Given the description of an element on the screen output the (x, y) to click on. 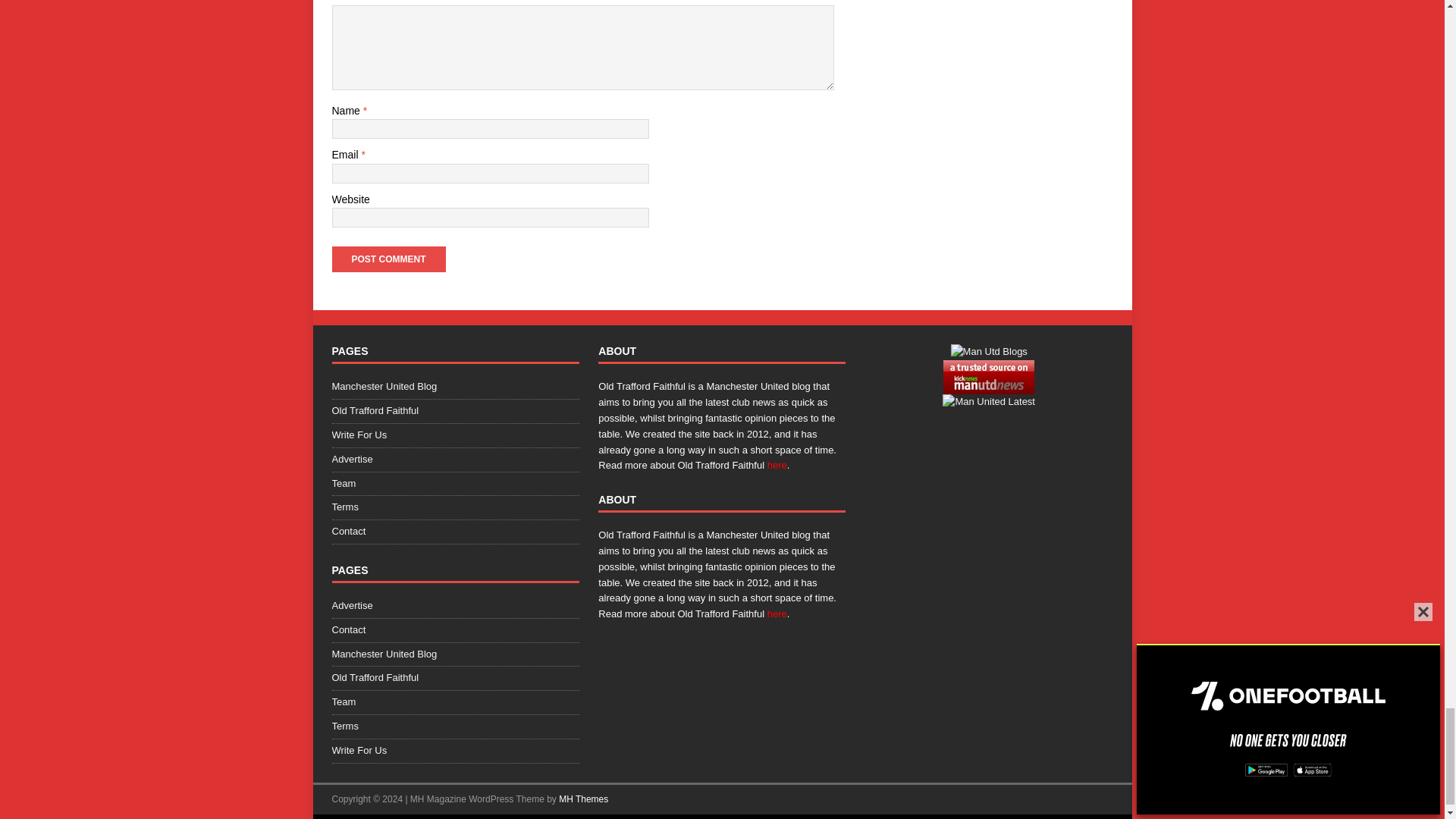
Post Comment (388, 258)
